Given the description of an element on the screen output the (x, y) to click on. 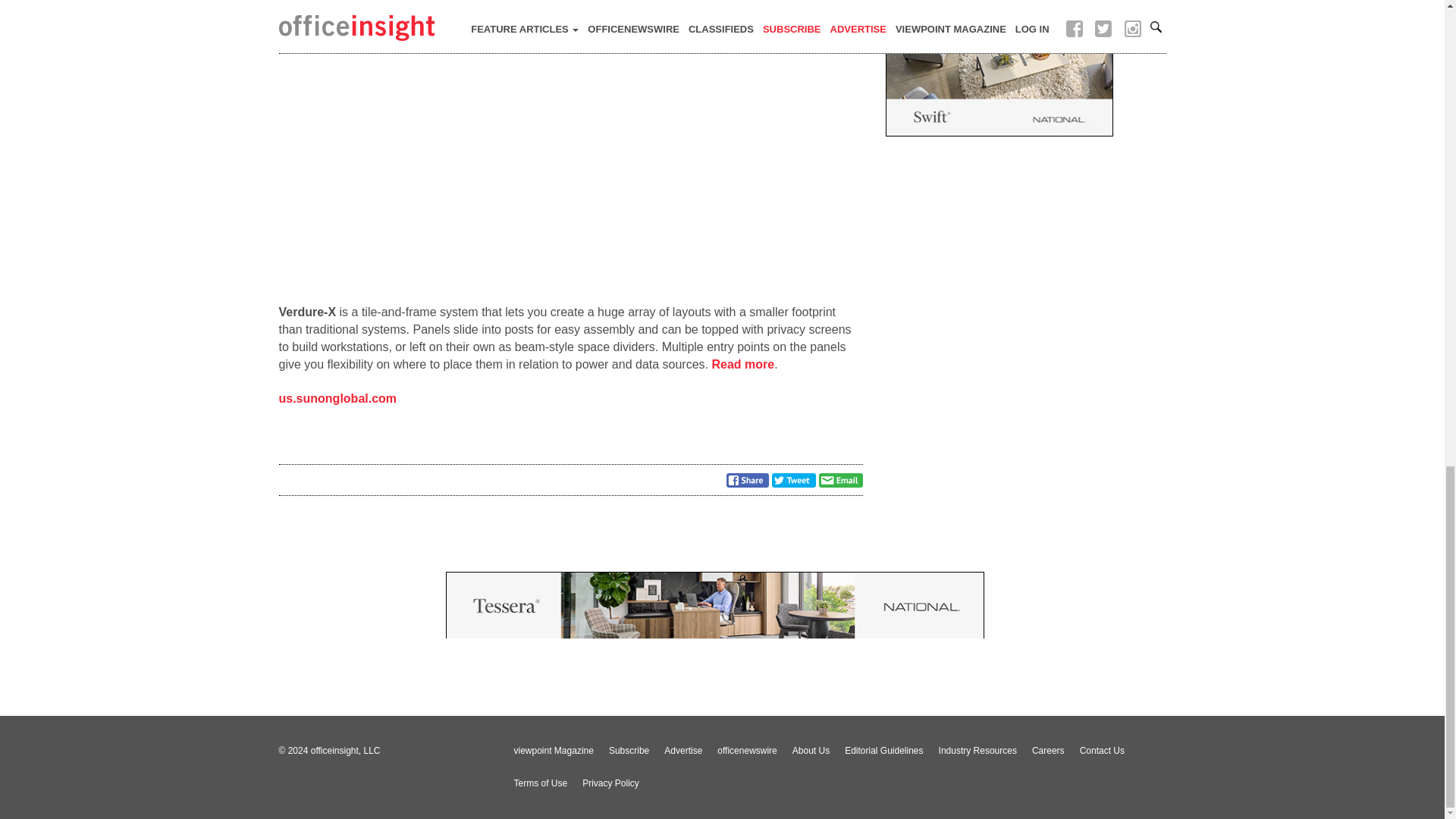
Read more (742, 364)
us.sunonglobal.com (338, 398)
